Given the description of an element on the screen output the (x, y) to click on. 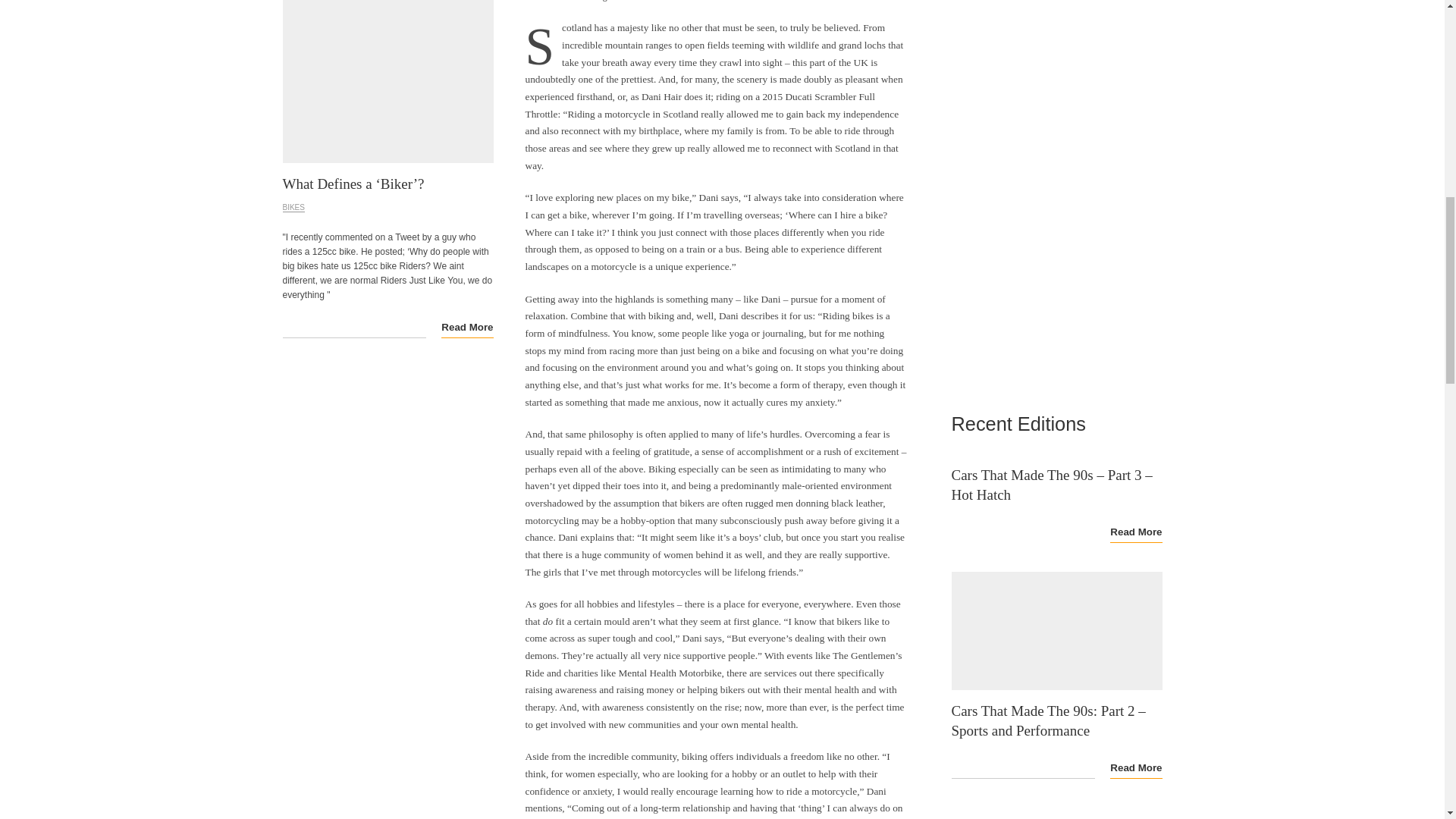
BIKES (293, 207)
Read More (467, 326)
